Given the description of an element on the screen output the (x, y) to click on. 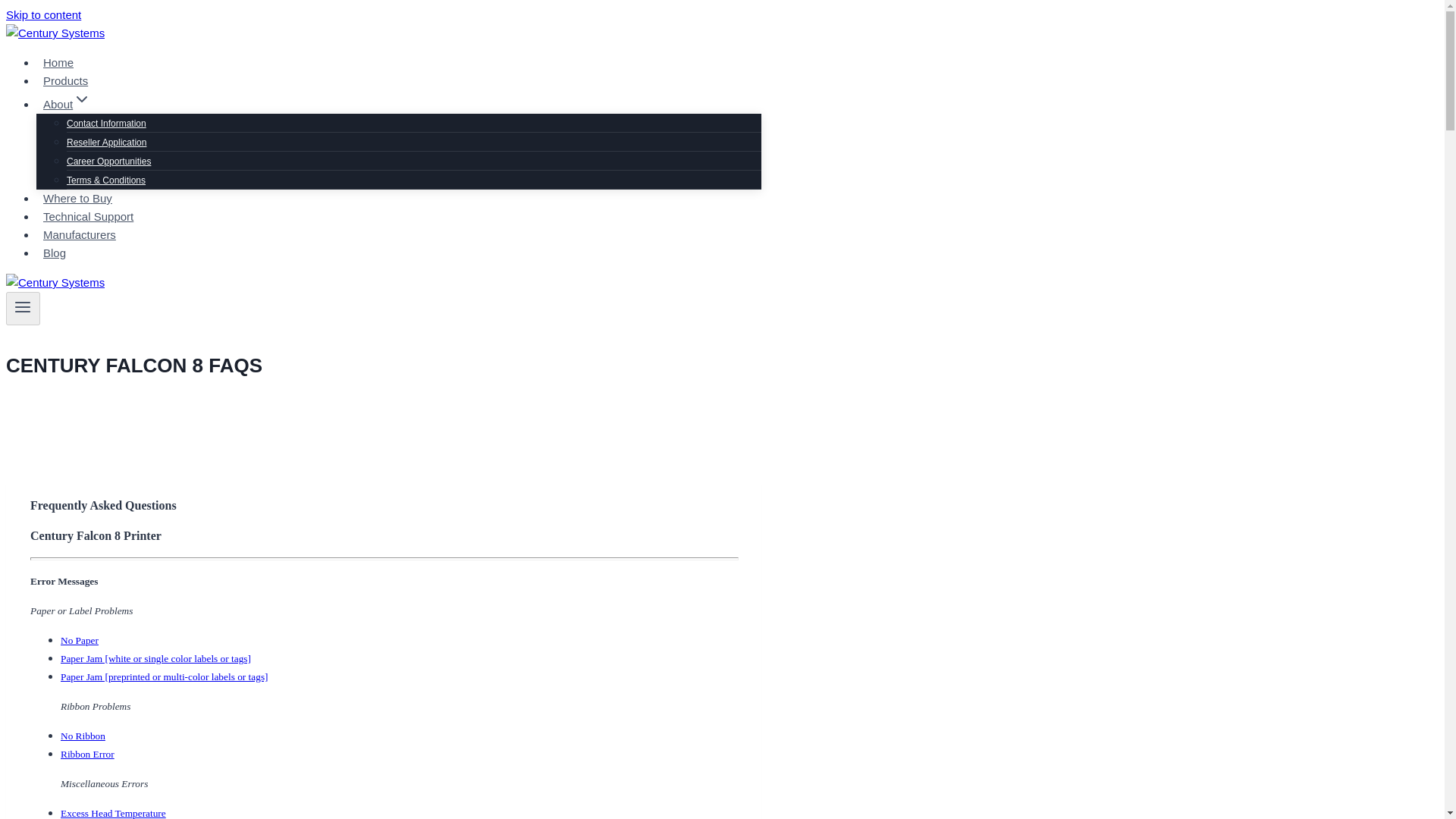
Skip to content (43, 14)
Contact Information (106, 123)
Technical Support (87, 216)
Products (65, 80)
AboutExpand (66, 103)
Toggle Menu (22, 307)
Blog (54, 252)
Excess Head Temperature (113, 813)
Skip to content (43, 14)
Where to Buy (77, 198)
